Given the description of an element on the screen output the (x, y) to click on. 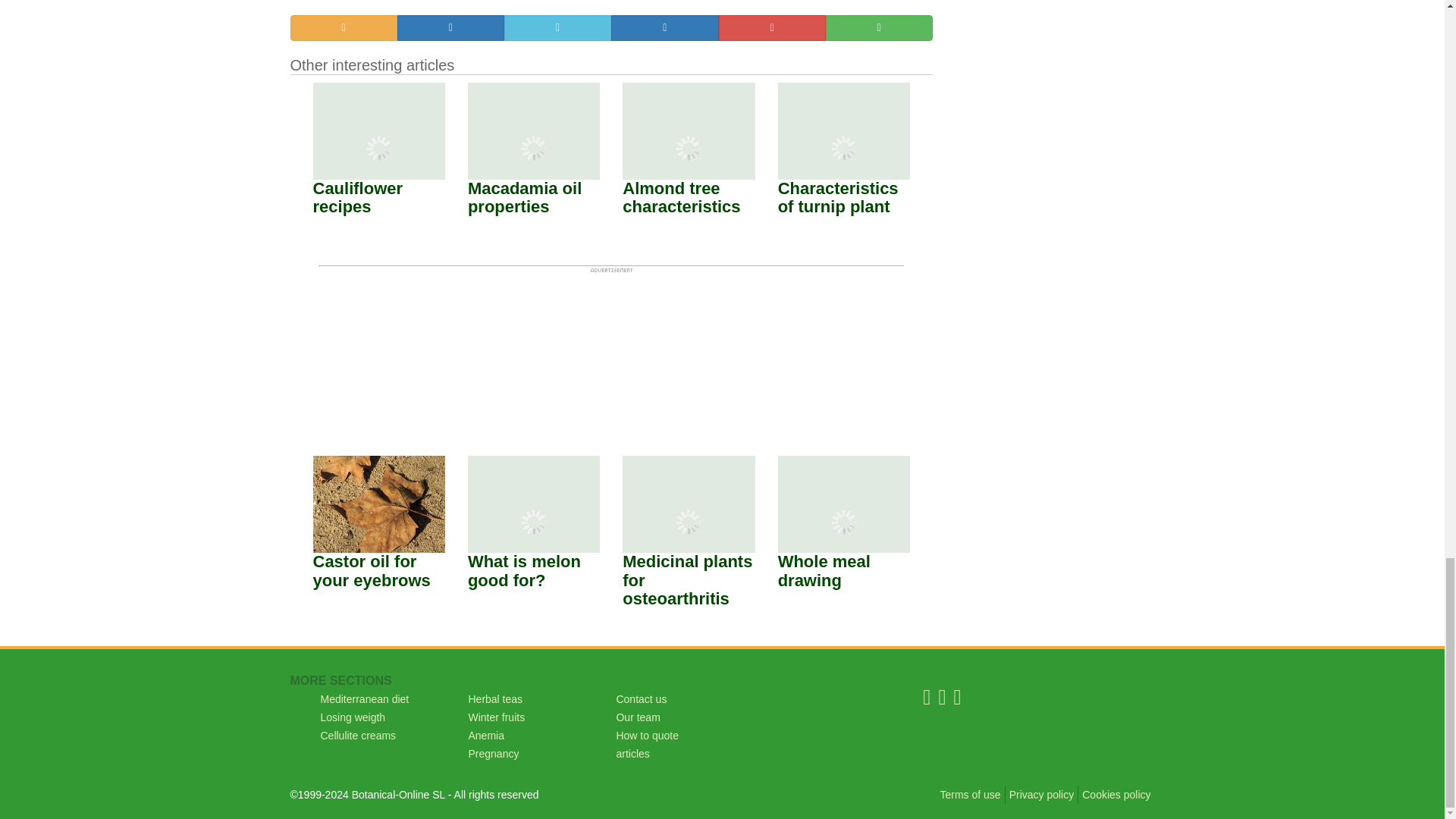
Advertisement (611, 346)
